Given the description of an element on the screen output the (x, y) to click on. 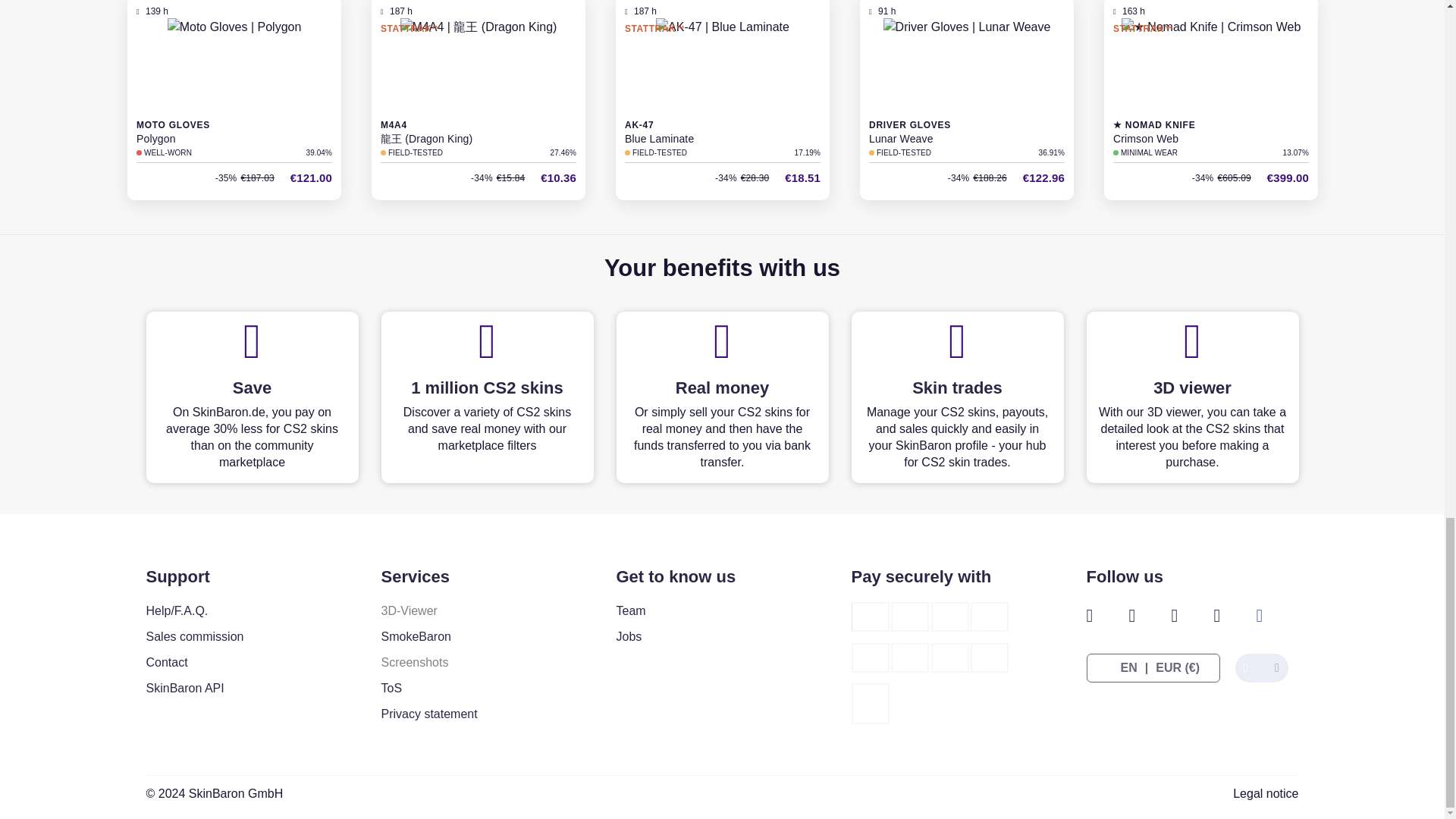
theme-switch (1261, 667)
